Given the description of an element on the screen output the (x, y) to click on. 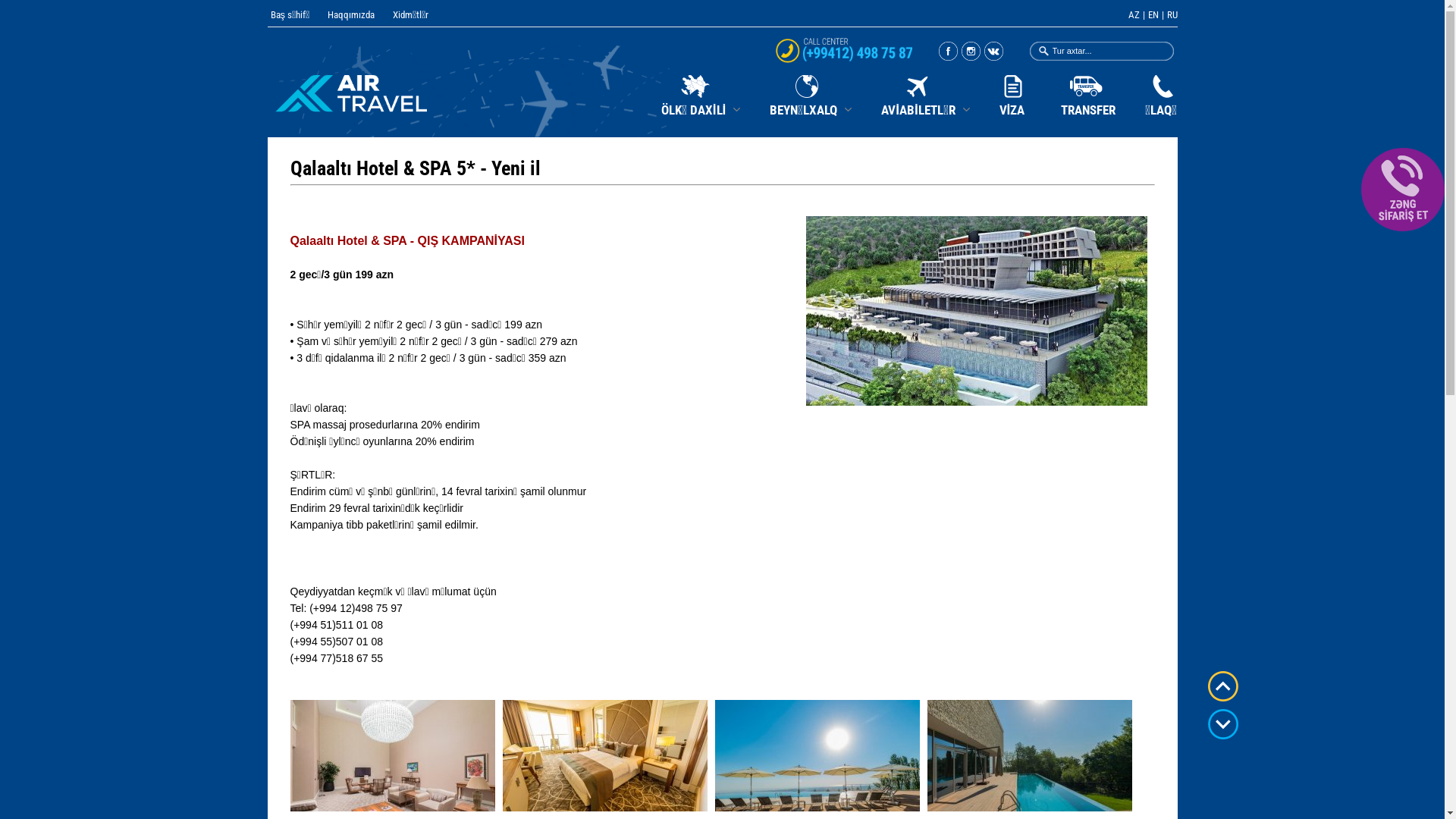
EN Element type: text (1153, 14)
TRANSFER Element type: text (1087, 84)
AZ Element type: text (1133, 14)
RU Element type: text (1171, 14)
